Given the description of an element on the screen output the (x, y) to click on. 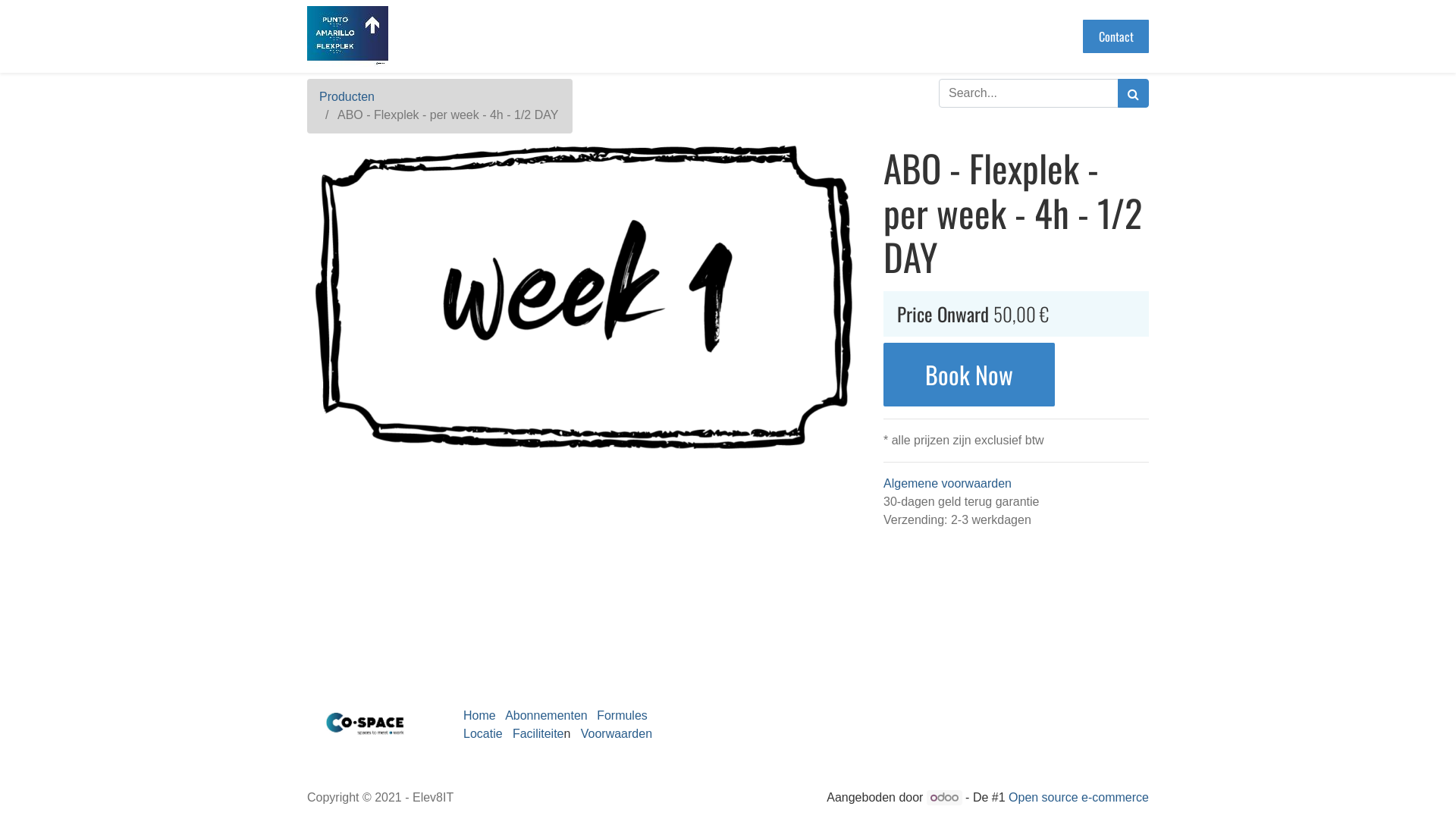
Home Element type: text (479, 715)
  Voorwaarden Element type: text (613, 733)
Book Now Element type: text (968, 374)
Producten Element type: text (346, 96)
Algemene voorwaarden Element type: text (947, 482)
Open source e-commerce Element type: text (1078, 796)
Locatie Element type: text (482, 733)
Contact Element type: text (1115, 35)
CO-SPACE meetingrooms Element type: hover (347, 36)
Zoek Element type: hover (1132, 92)
Abonnementen Element type: text (546, 715)
Faciliteite Element type: text (538, 733)
Formules Element type: text (621, 715)
MijnBedrijf Element type: hover (367, 724)
